Given the description of an element on the screen output the (x, y) to click on. 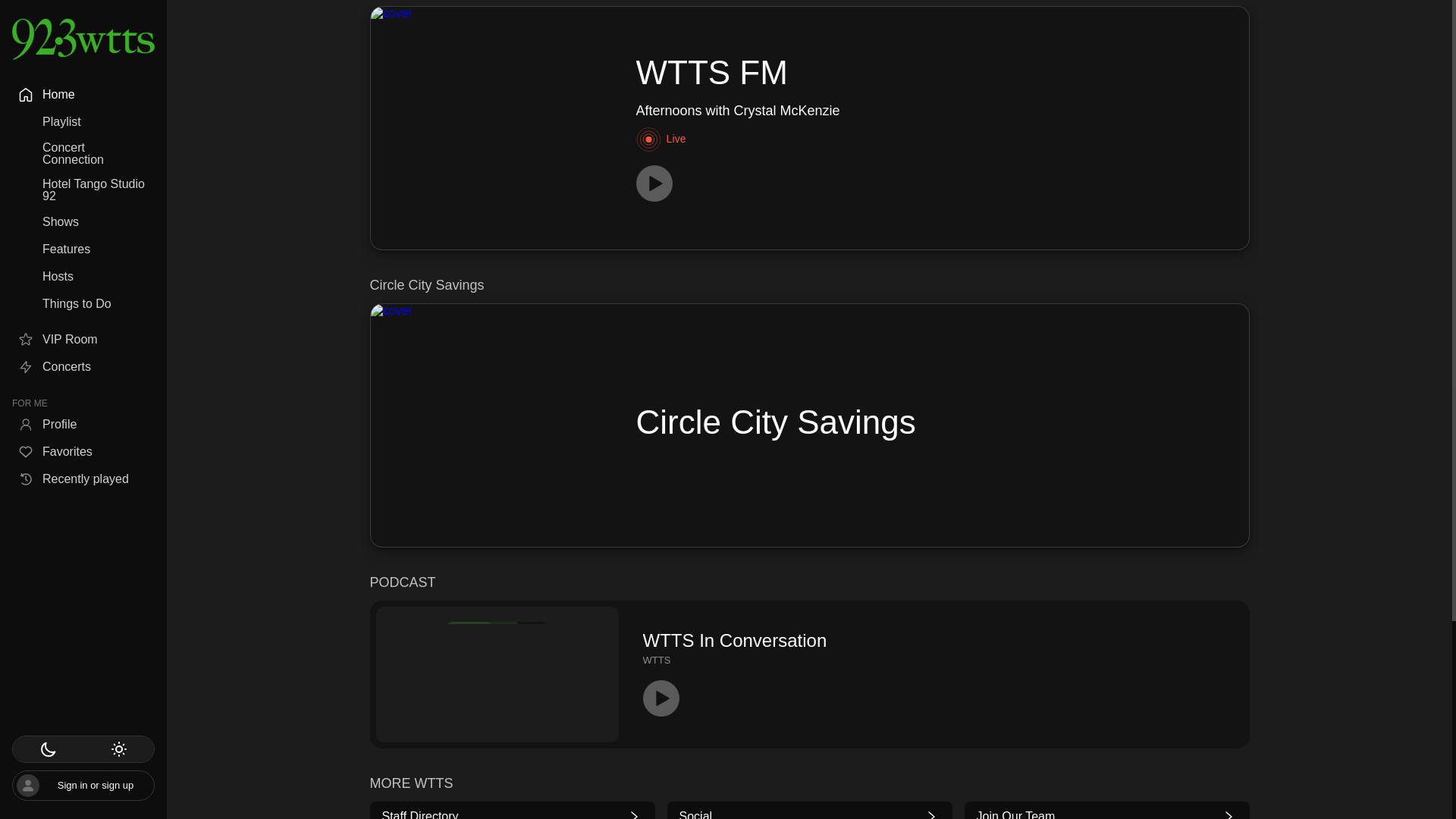
Recently played (82, 478)
Concert Connection (82, 153)
Join Our Team (809, 674)
Hosts (1106, 813)
Sign in or sign up (82, 276)
Staff Directory (82, 785)
VIP Room (512, 813)
Favorites (82, 339)
Hotel Tango Studio 92 (82, 451)
Features (82, 221)
Home (82, 190)
